Given the description of an element on the screen output the (x, y) to click on. 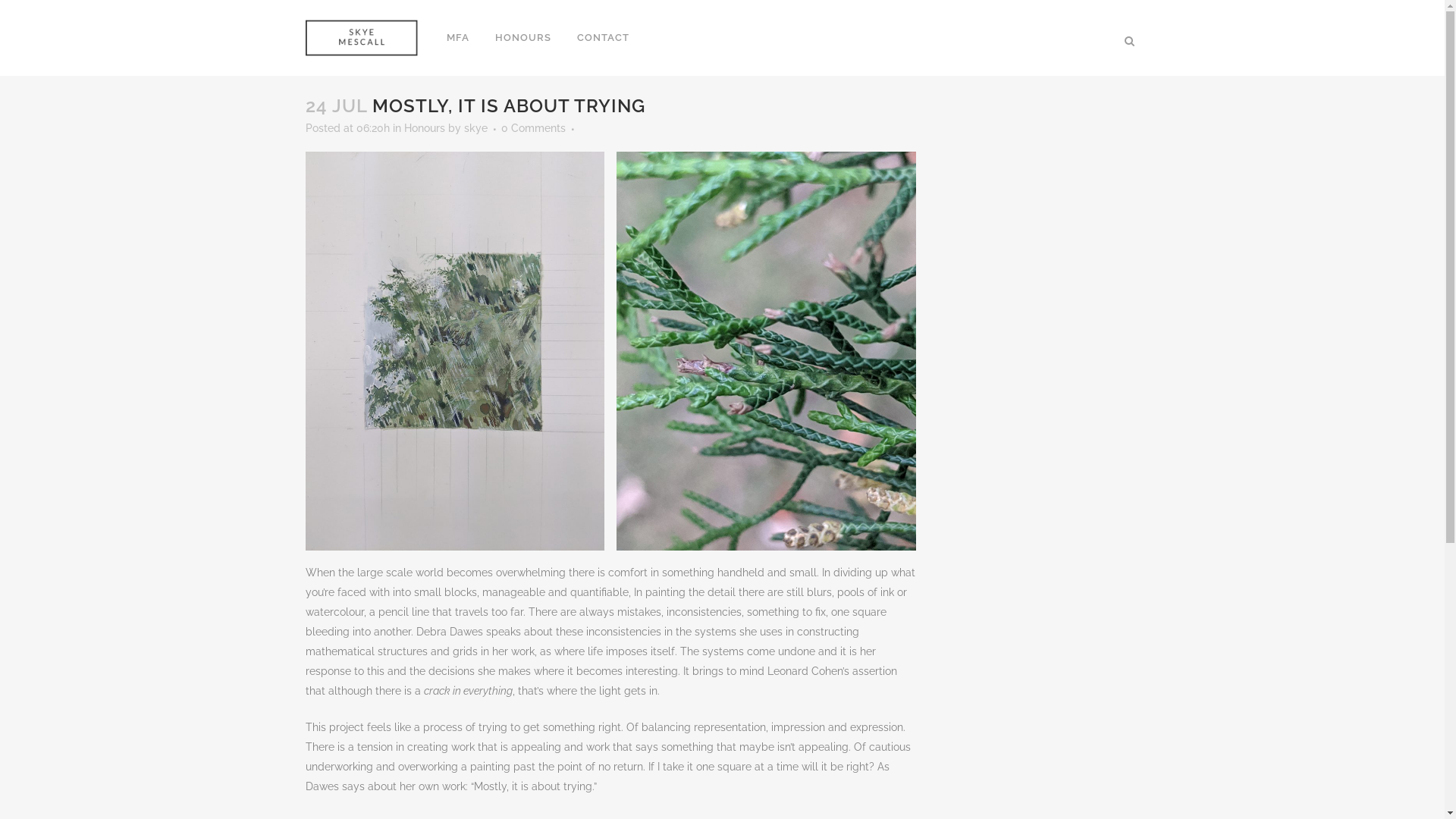
MFA Element type: text (457, 37)
skye Element type: text (475, 128)
HONOURS Element type: text (523, 37)
0 Comments Element type: text (532, 128)
CONTACT Element type: text (603, 37)
Honours Element type: text (423, 128)
